Given the description of an element on the screen output the (x, y) to click on. 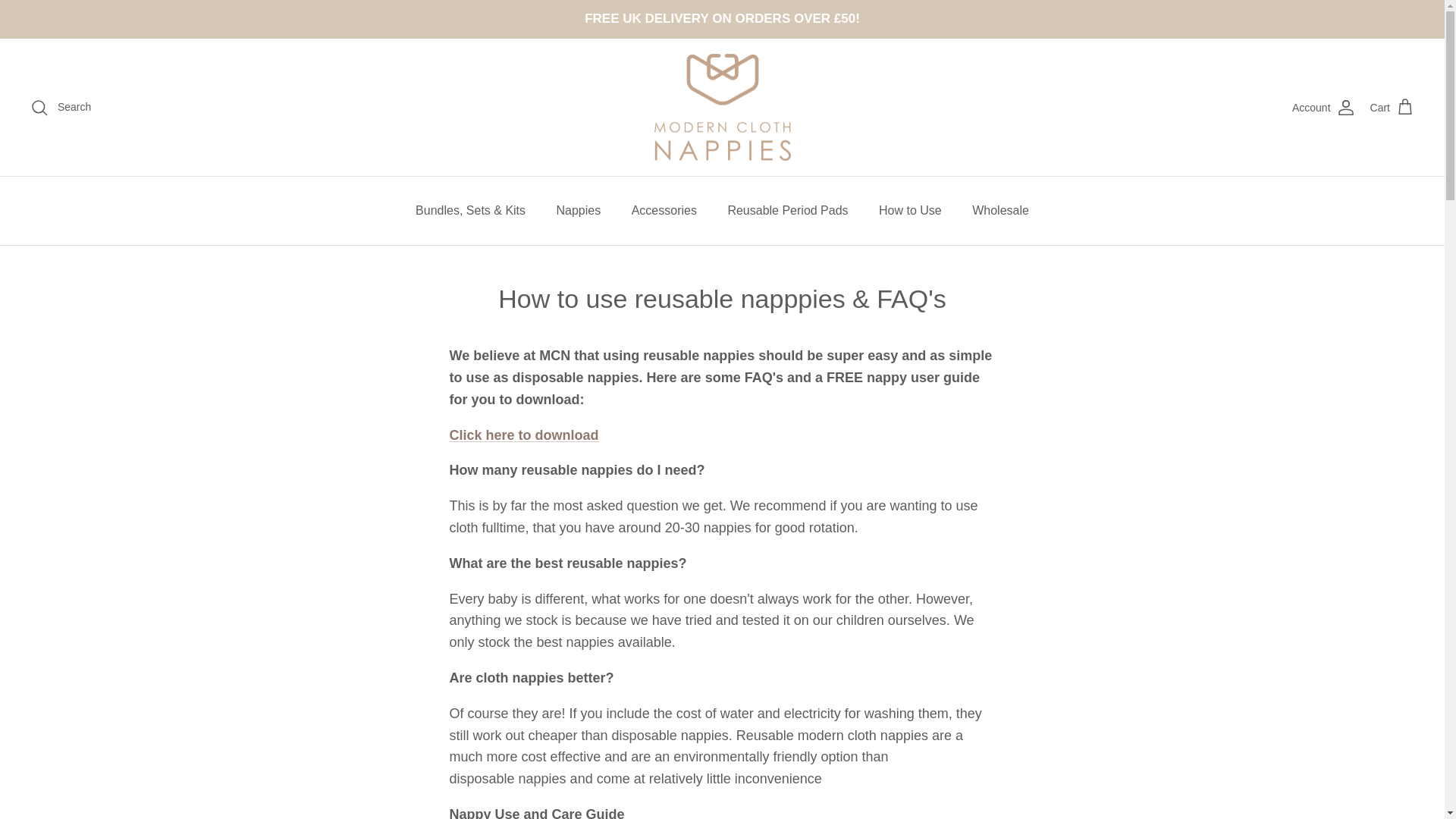
Modern Cloth Nappies (721, 107)
Cart (1391, 107)
Account (1323, 107)
Nappies (578, 210)
Search (60, 107)
Modern Cloth Nappies User Guide How to use cloth nappies (523, 435)
